Given the description of an element on the screen output the (x, y) to click on. 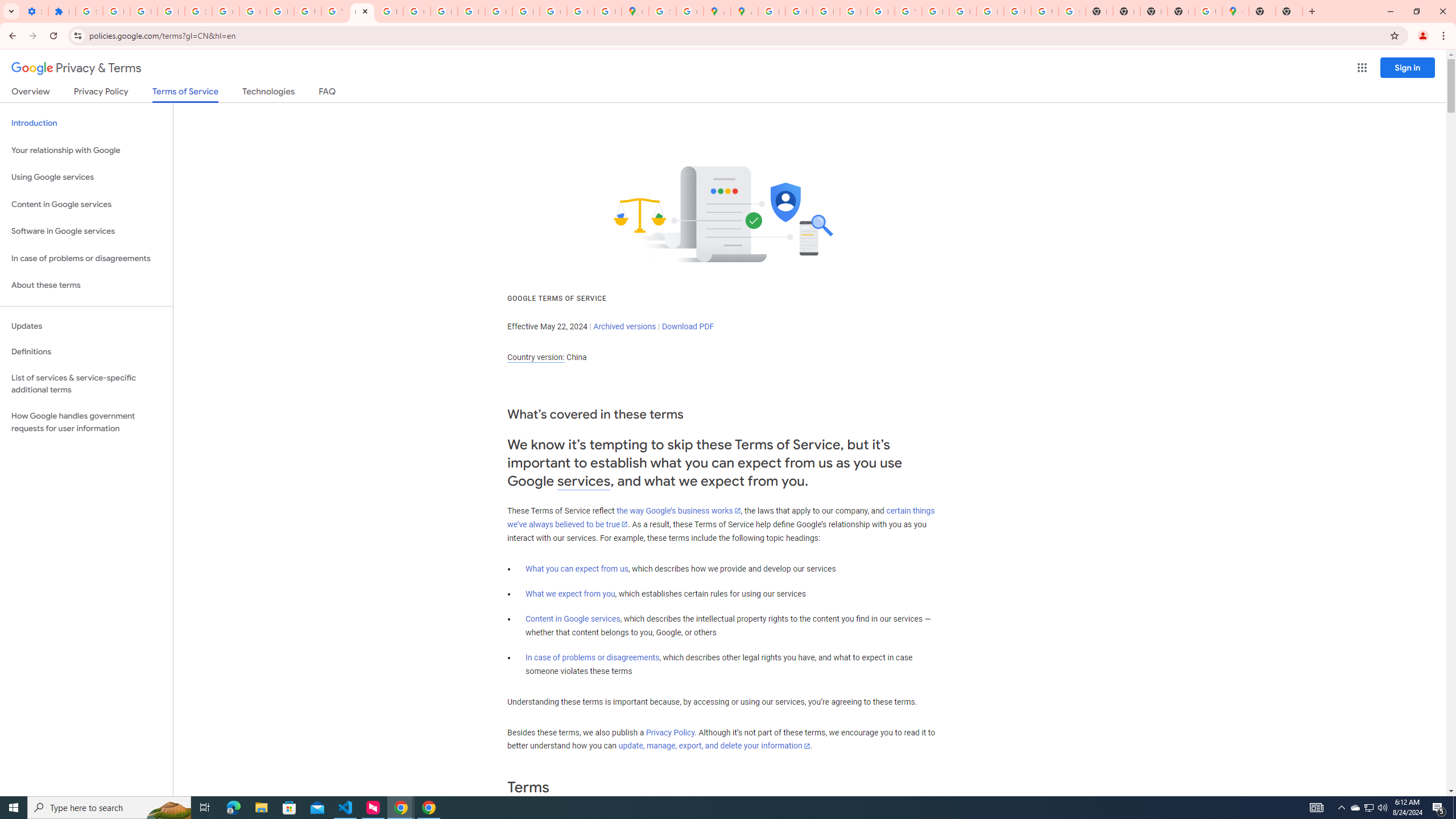
Extensions (61, 11)
Definitions (86, 352)
Software in Google services (86, 230)
https://scholar.google.com/ (389, 11)
How Google handles government requests for user information (86, 422)
Introduction (86, 122)
YouTube (908, 11)
